Given the description of an element on the screen output the (x, y) to click on. 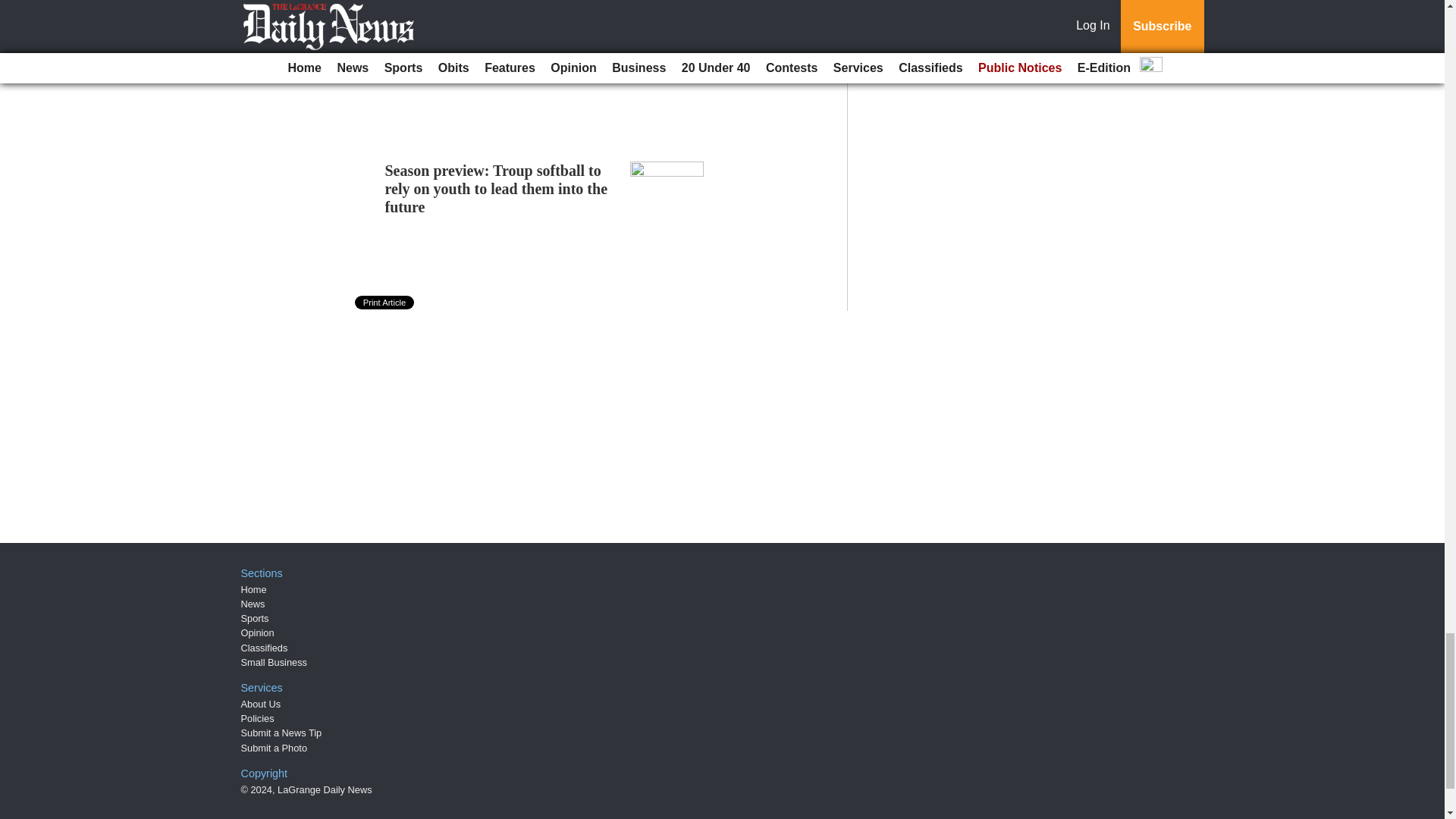
Home (253, 589)
Print Article (384, 302)
